Given the description of an element on the screen output the (x, y) to click on. 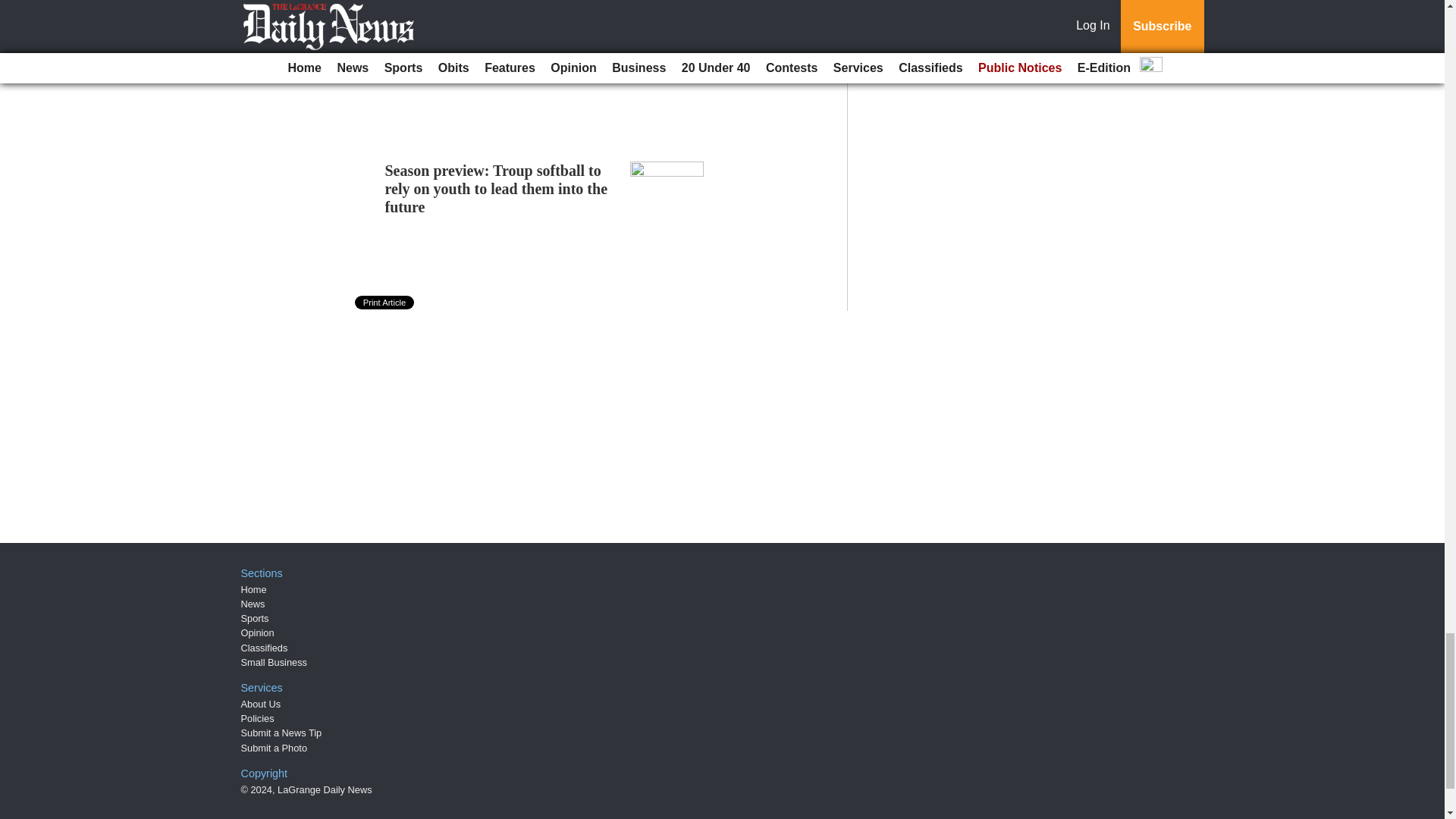
Home (253, 589)
Print Article (384, 302)
